Given the description of an element on the screen output the (x, y) to click on. 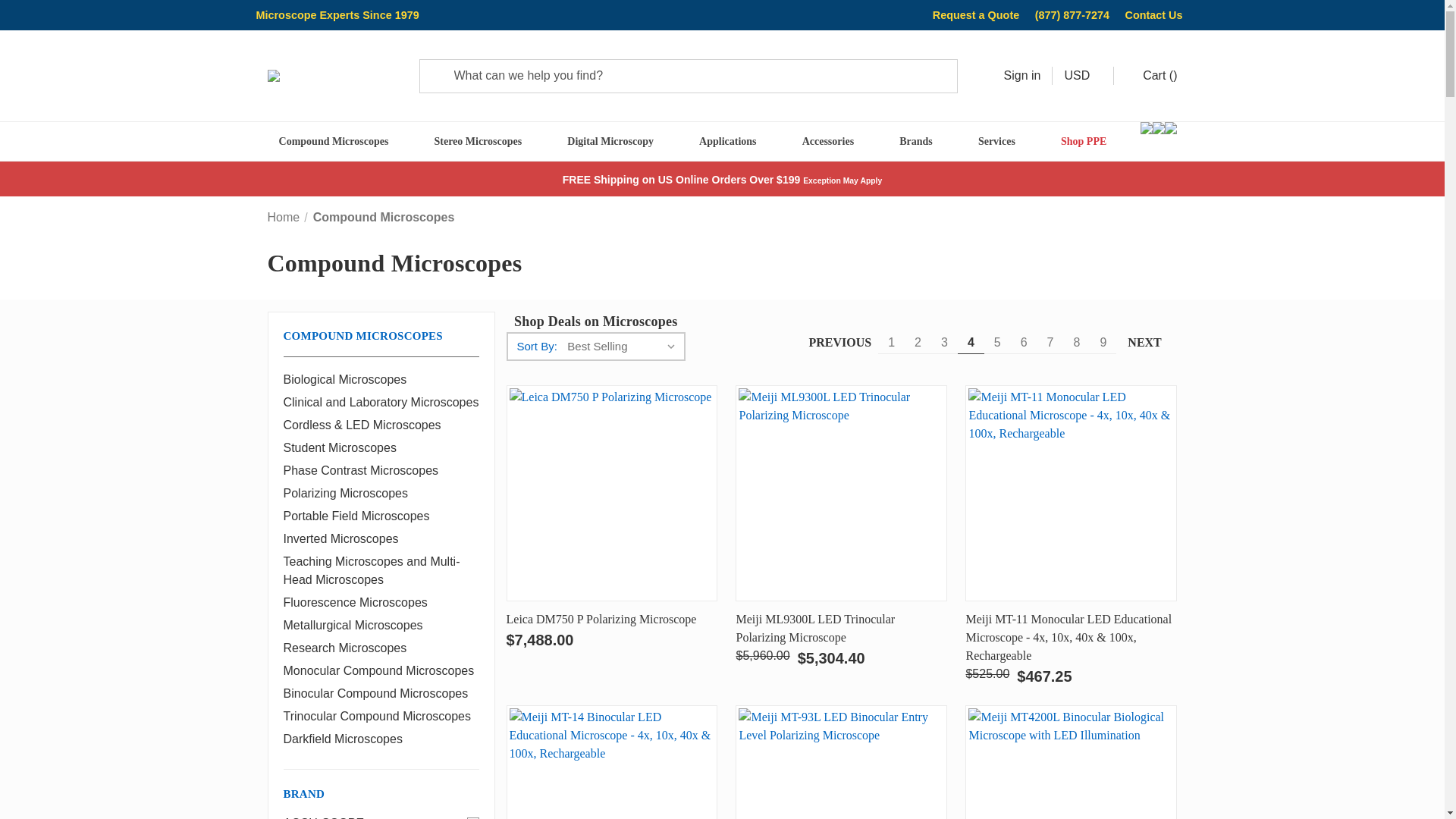
Leica DM750 P Polarizing Microscope (611, 493)
Compound Microscopes (334, 141)
USD (1082, 75)
Biological Microscopes (381, 379)
Meiji ML9300L LED Trinocular Polarizing Microscope (840, 493)
Shop PPE and medical products (1083, 141)
Phase Contrast Microscopes (381, 470)
Research Microscopes (381, 648)
Inverted Microscopes (381, 538)
Teaching Microscopes and Multi-Head Microscopes (381, 570)
Clinical and Laboratory Microscopes (381, 402)
Polarizing Microscopes (381, 493)
Sign in (1022, 75)
Student Microscopes (381, 447)
Monocular Compound Microscopes (381, 671)
